Given the description of an element on the screen output the (x, y) to click on. 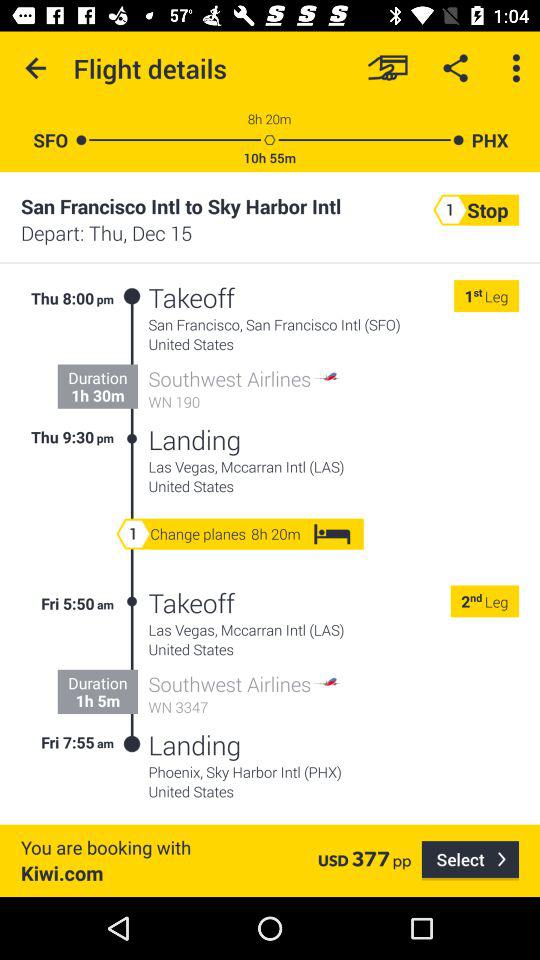
turn off phoenix sky harbor item (333, 771)
